Given the description of an element on the screen output the (x, y) to click on. 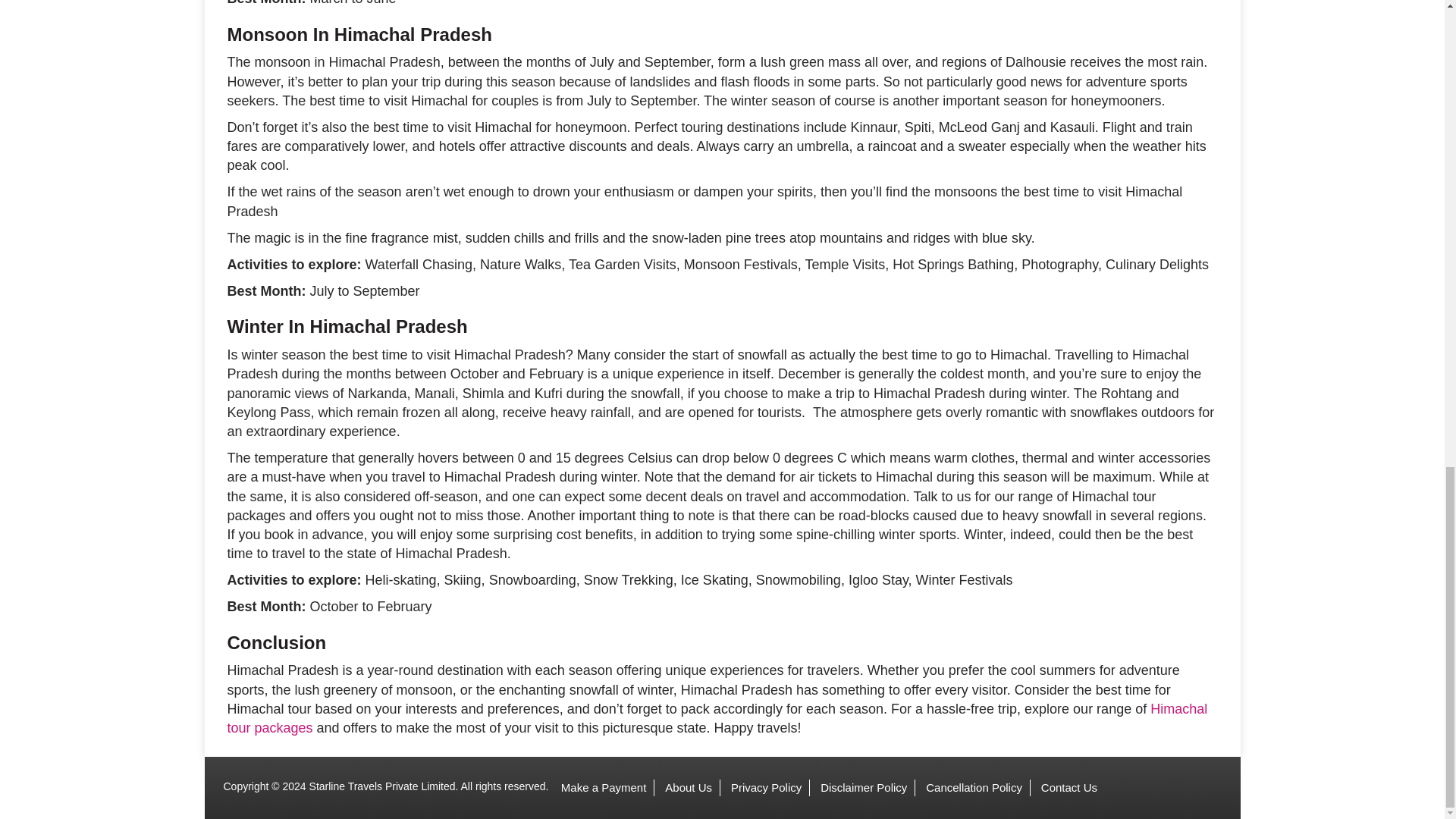
Disclaimer Policy (863, 787)
Make a Payment (603, 787)
Privacy Policy (766, 787)
Himachal tour packages (717, 718)
Contact Us (1069, 787)
About Us (688, 787)
Cancellation Policy (973, 787)
